Given the description of an element on the screen output the (x, y) to click on. 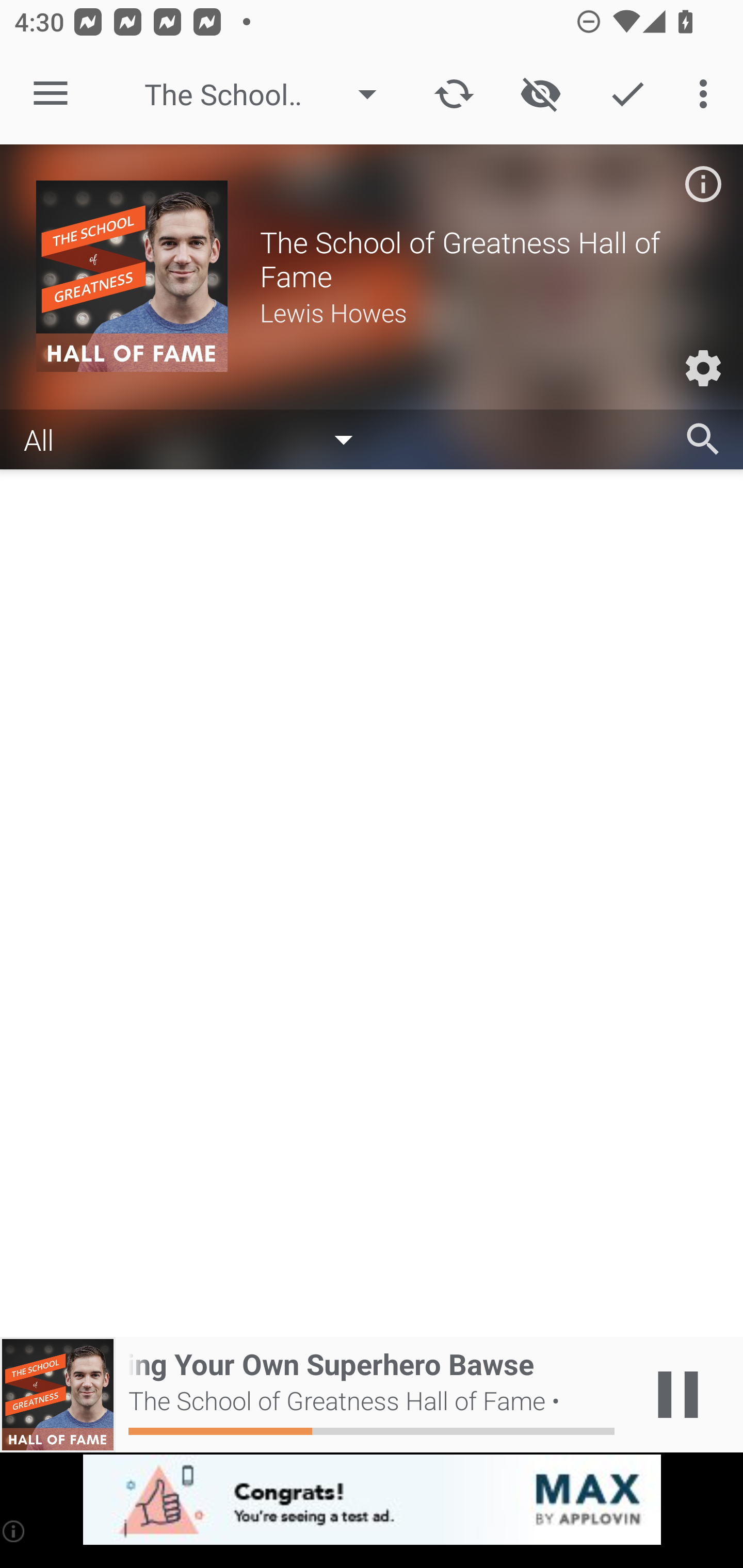
Open navigation sidebar (50, 93)
Update (453, 93)
Show / Hide played content (540, 93)
Action Mode (626, 93)
More options (706, 93)
The School of Greatness Hall of Fame (270, 94)
Podcast description (703, 184)
Lewis Howes (483, 311)
Custom Settings (703, 368)
Search (703, 439)
All (197, 438)
Play / Pause (677, 1394)
app-monetization (371, 1500)
(i) (14, 1531)
